Given the description of an element on the screen output the (x, y) to click on. 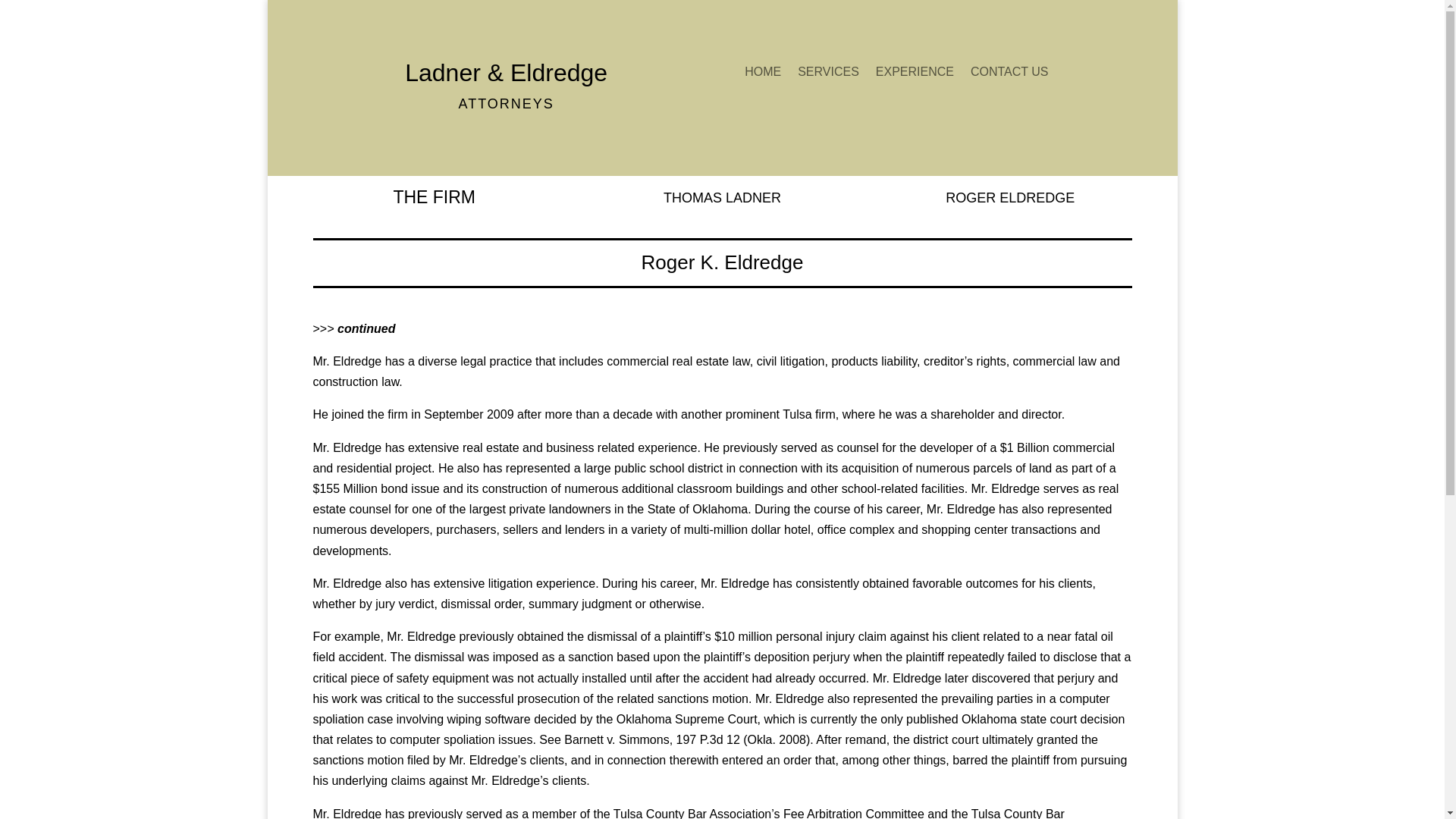
THOMAS LADNER (721, 197)
SERVICES (828, 74)
ROGER ELDREDGE (1009, 197)
CONTACT US (1009, 74)
HOME (762, 74)
EXPERIENCE (914, 74)
